Given the description of an element on the screen output the (x, y) to click on. 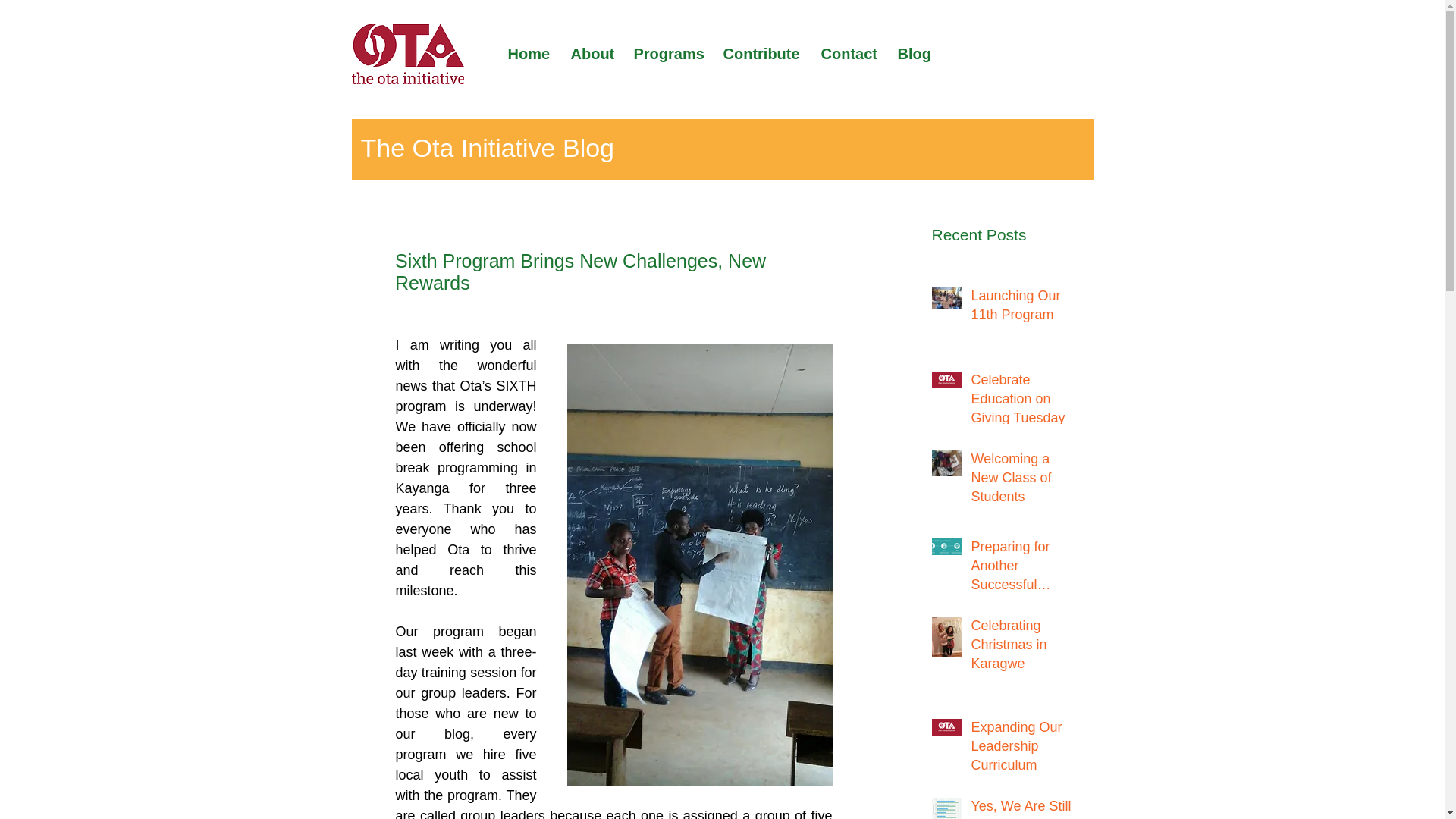
Home (531, 53)
Preparing for Another Successful Program (1025, 569)
Launching Our 11th Program (1025, 308)
Celebrating Christmas in Karagwe (1025, 648)
About (594, 53)
Contribute (764, 53)
Programs (671, 53)
Welcoming a New Class of Students (1025, 481)
Contact (850, 53)
Expanding Our Leadership Curriculum (1025, 750)
Blog (916, 53)
Celebrate Education on Giving Tuesday (1025, 402)
Yes, We Are Still Here! (1025, 807)
